Given the description of an element on the screen output the (x, y) to click on. 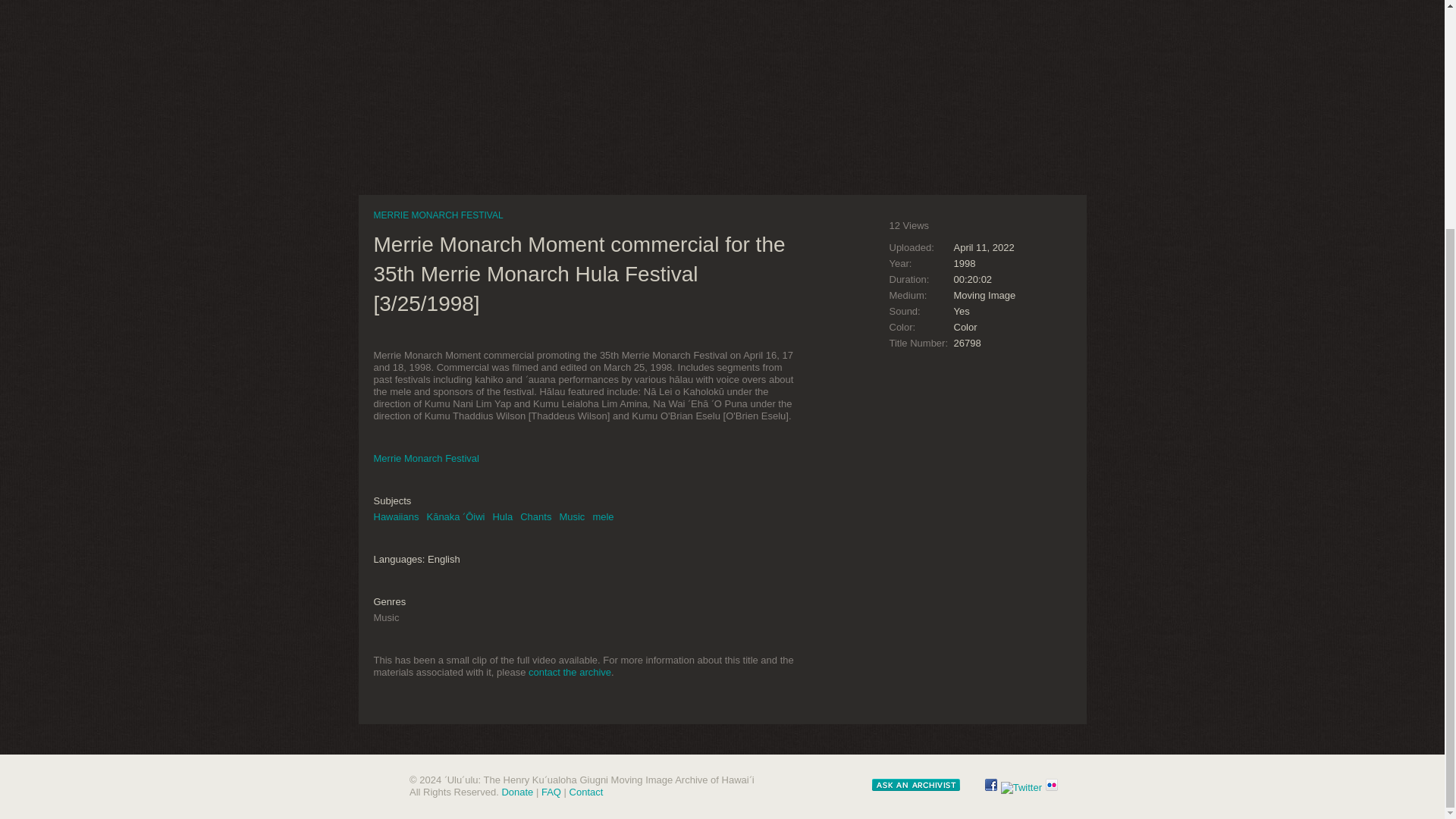
MERRIE MONARCH FESTIVAL (437, 214)
Chants (535, 516)
Hawaiians (395, 516)
Music (572, 516)
Hula (502, 516)
contact the archive (569, 672)
mele (602, 516)
Donate (516, 791)
Merrie Monarch Festival (425, 458)
Contact (586, 791)
FAQ (550, 791)
